Given the description of an element on the screen output the (x, y) to click on. 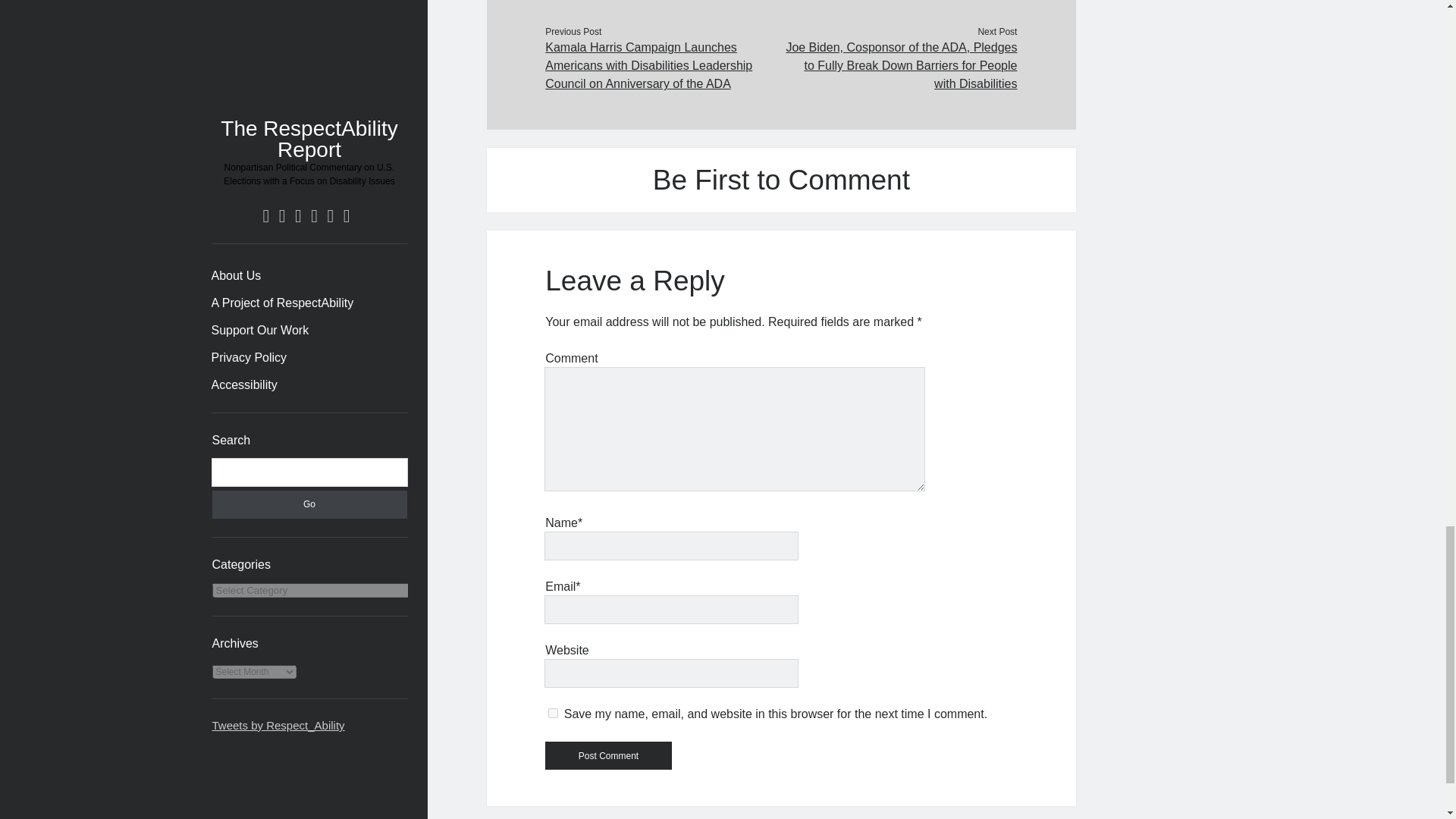
Post Comment (607, 755)
yes (552, 713)
Post Comment (607, 755)
